Given the description of an element on the screen output the (x, y) to click on. 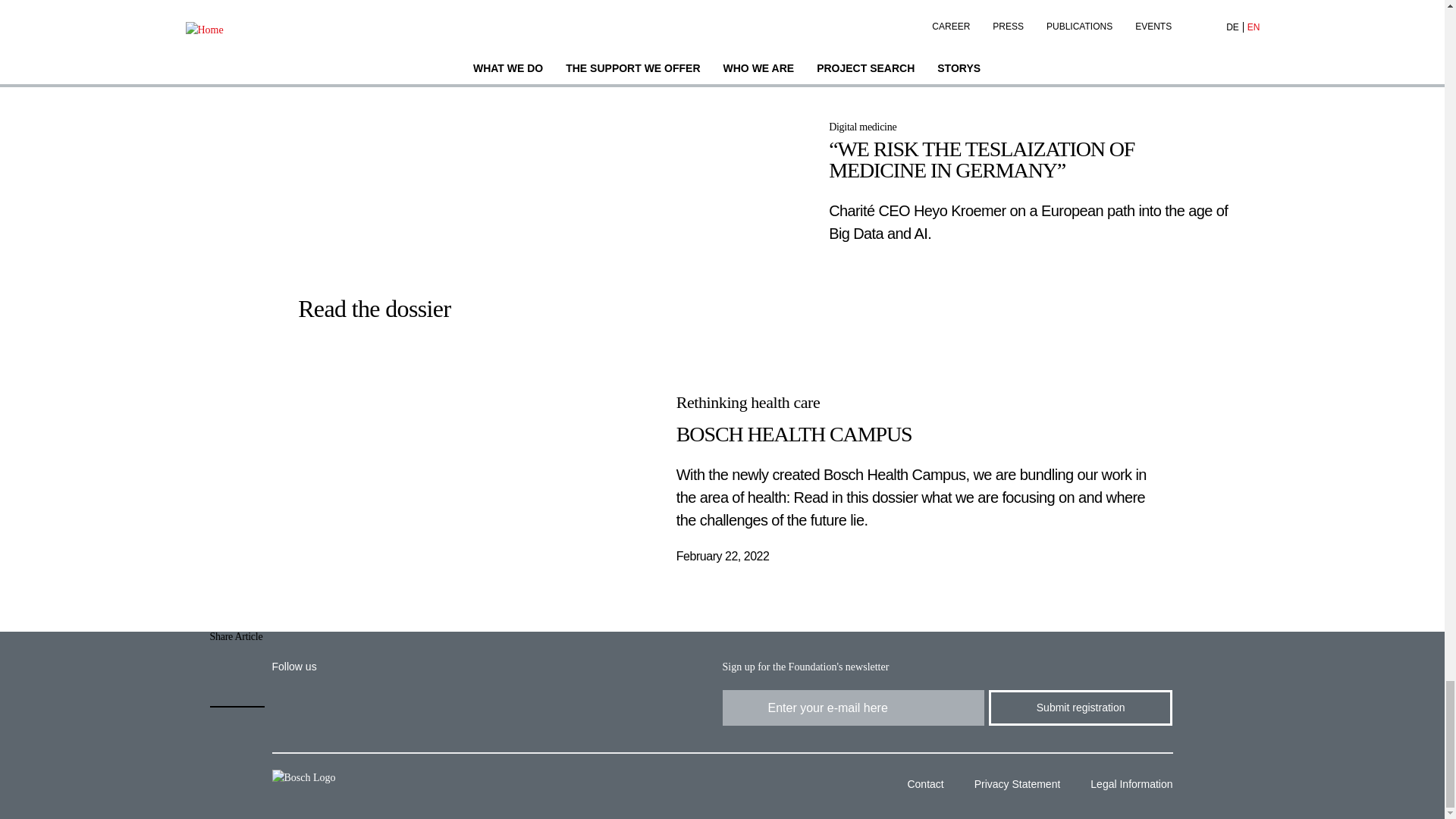
youtube (395, 707)
Linkedin (287, 707)
instagram (450, 707)
Contact (919, 786)
Enter your e-mail here (853, 707)
facebook (343, 707)
Submit registration (1080, 707)
